Given the description of an element on the screen output the (x, y) to click on. 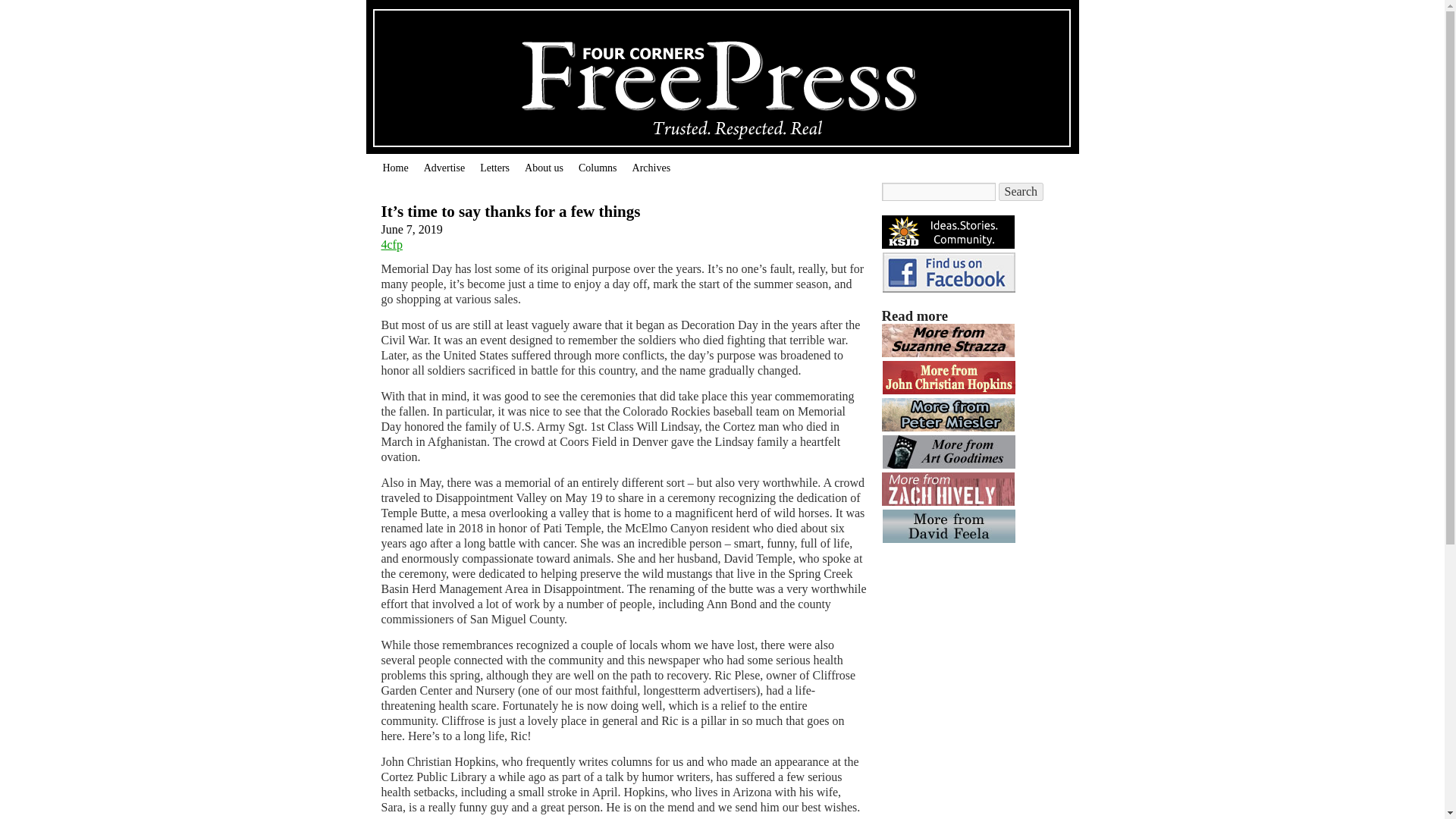
Home (394, 167)
Advertise (443, 167)
View all posts by 4cfp (390, 244)
Search (1020, 191)
4cfp (390, 244)
Archives (651, 167)
Letters (493, 167)
Search (1020, 191)
About us (543, 167)
Columns (597, 167)
